Given the description of an element on the screen output the (x, y) to click on. 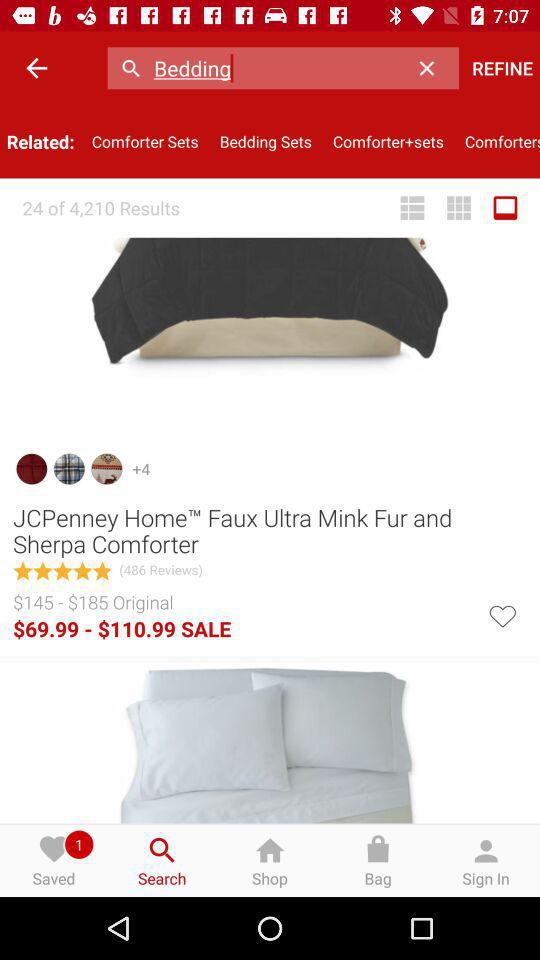
turn off the icon next to comforter sets icon (36, 68)
